Given the description of an element on the screen output the (x, y) to click on. 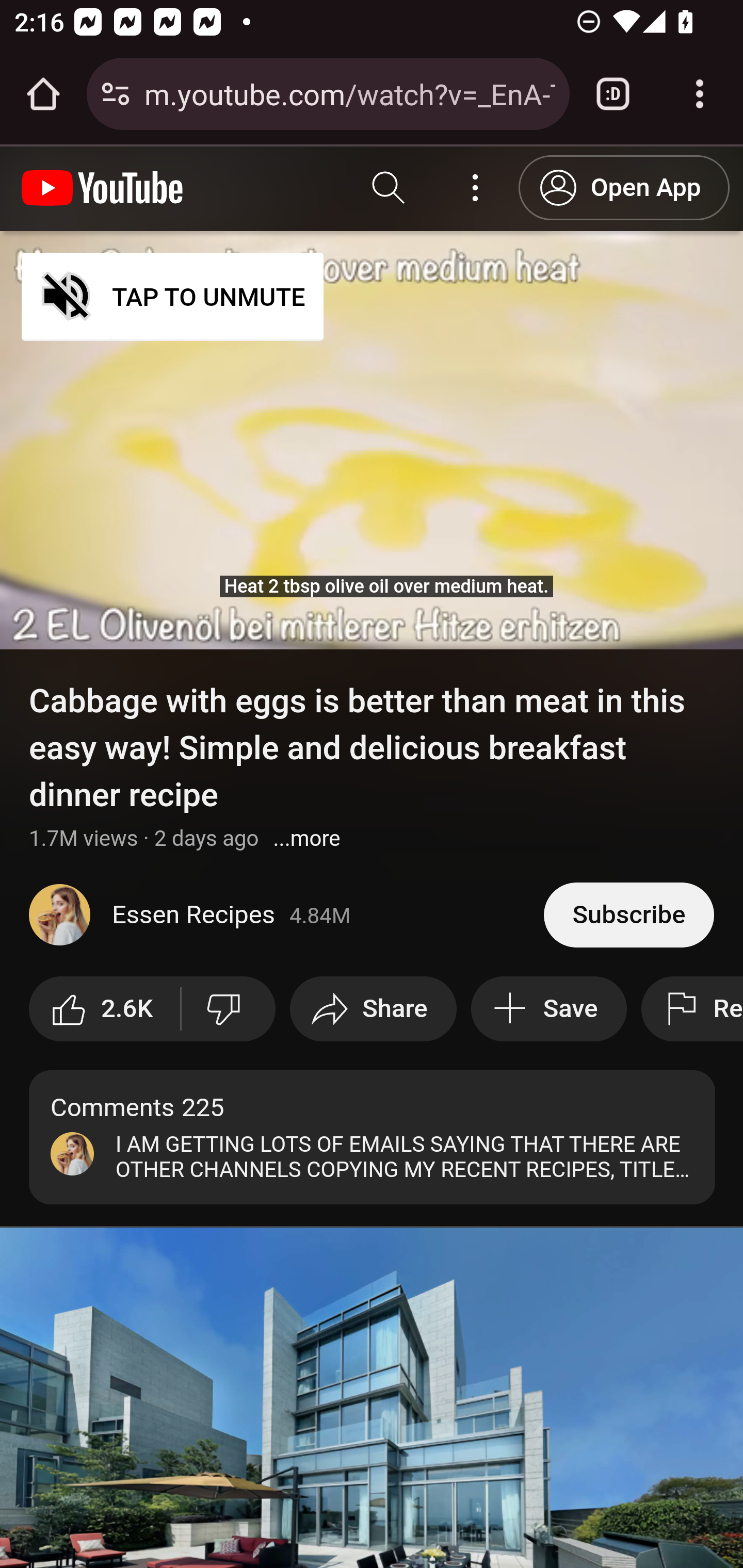
Open the home page (43, 93)
Connection is secure (115, 93)
Switch or close tabs (612, 93)
Customize and control Google Chrome (699, 93)
m.youtube.com/watch?v=_EnA-TIVc_g (349, 92)
YouTube (102, 188)
Search YouTube (388, 188)
Account (475, 188)
Open App (624, 187)
TAP TO UNMUTE (173, 296)
Show more (306, 837)
Subscribe to Essen Recipes. (627, 914)
Essen Recipes (286, 914)
like this video along with 2,601 other people (105, 1008)
Dislike this video (228, 1008)
Share (372, 1008)
Save to playlist (548, 1008)
Report (690, 1008)
Comments (372, 1136)
